Given the description of an element on the screen output the (x, y) to click on. 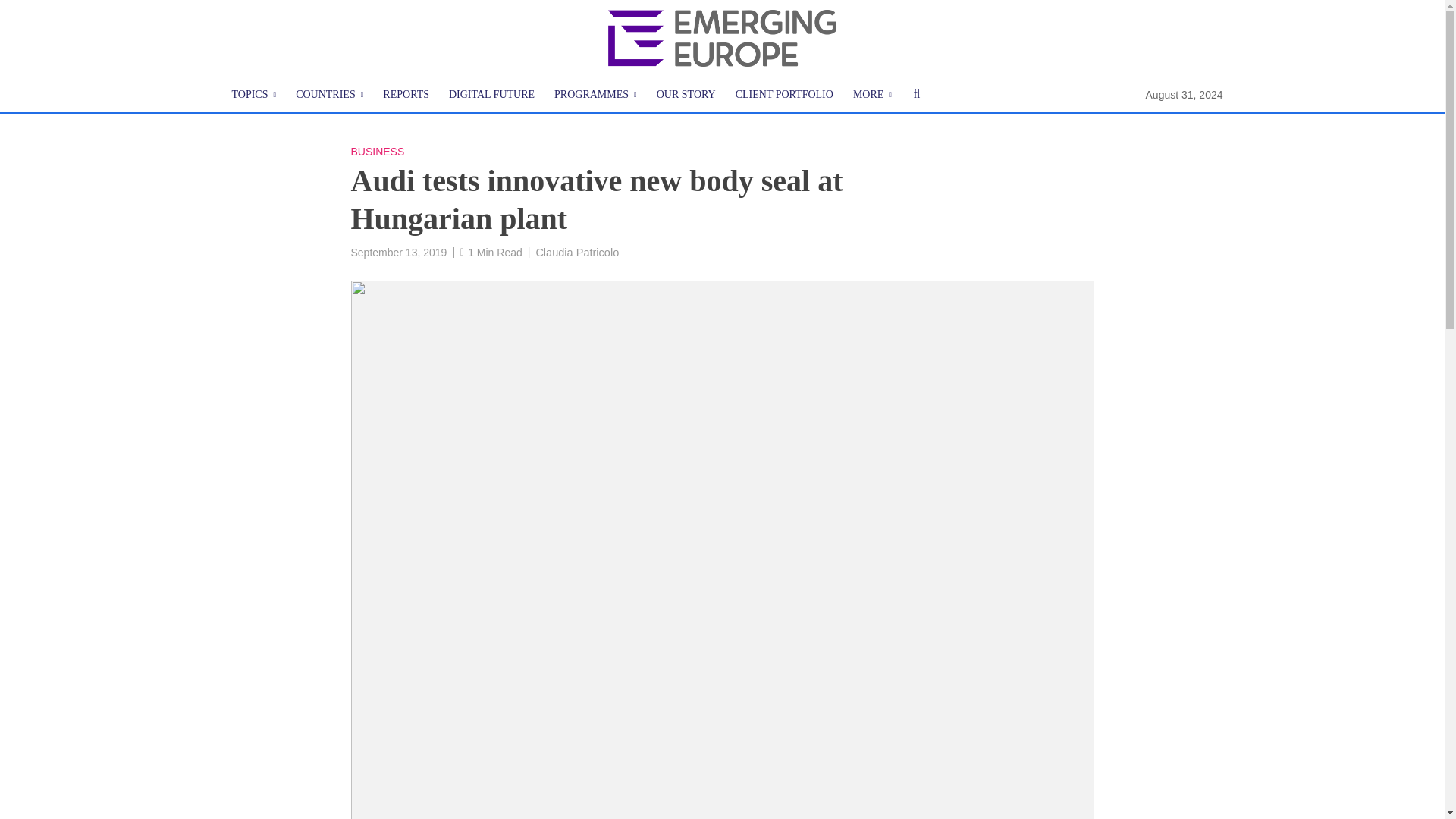
REPORTS (405, 94)
COUNTRIES (328, 94)
DIGITAL FUTURE (491, 94)
PROGRAMMES (595, 94)
TOPICS (253, 94)
